Given the description of an element on the screen output the (x, y) to click on. 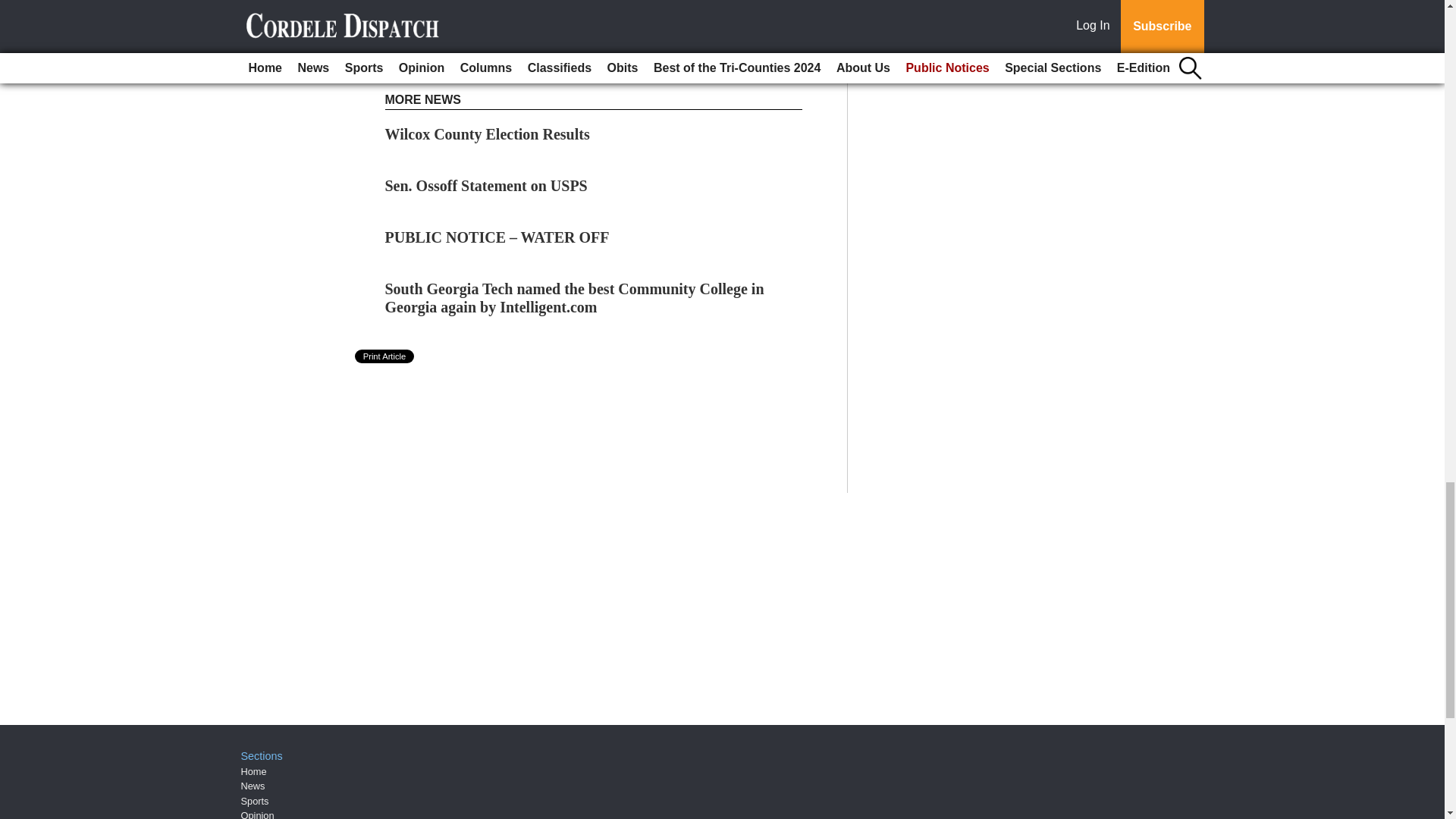
Opinion (258, 814)
Sports (255, 800)
Wilcox County Election Results (487, 134)
Print Article (384, 356)
Home (253, 771)
Sen. Ossoff Statement on USPS (486, 185)
Wilcox County Election Results (487, 134)
News (252, 785)
Sen. Ossoff Statement on USPS (486, 185)
